Given the description of an element on the screen output the (x, y) to click on. 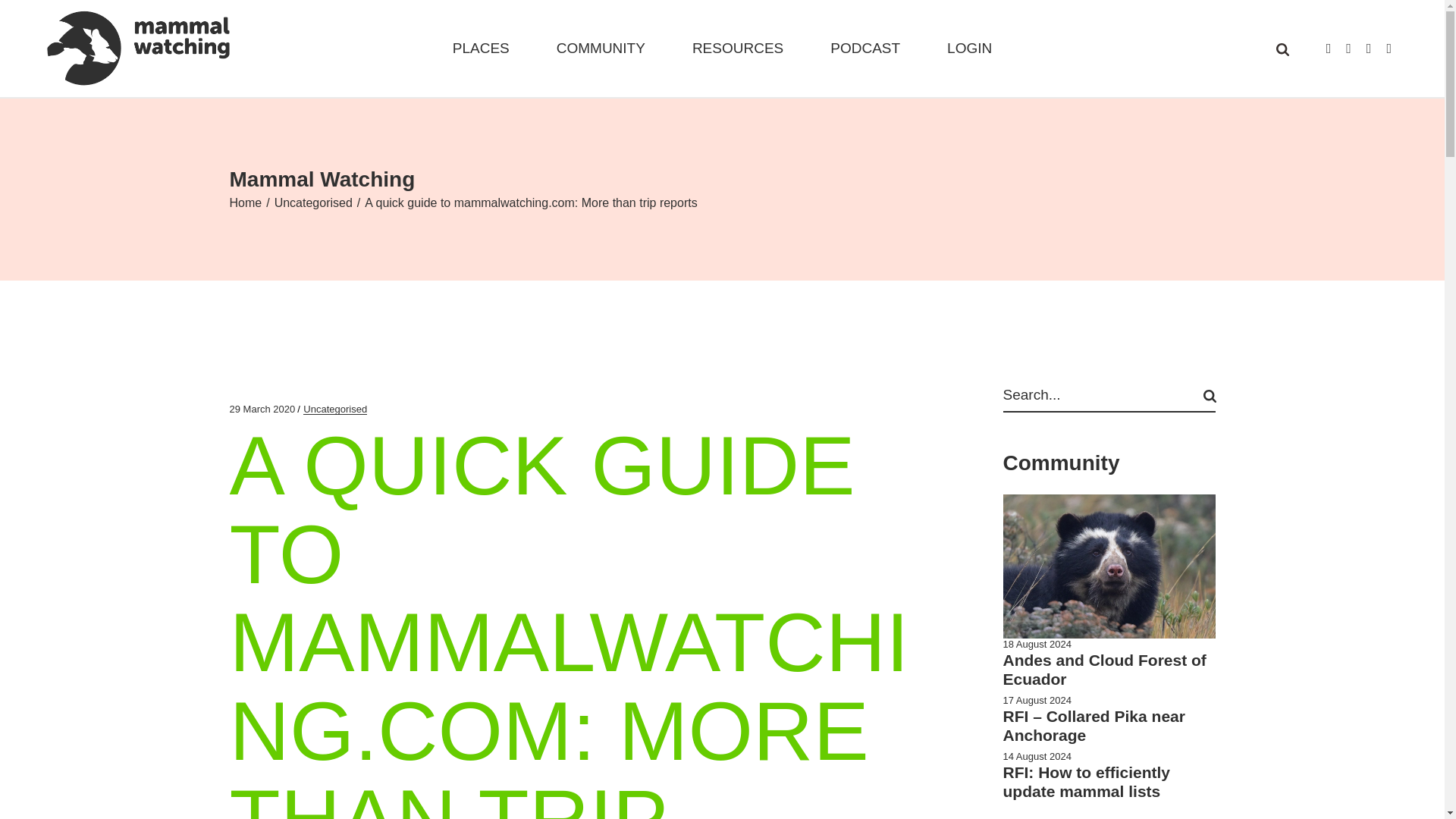
Title Text:  (261, 409)
RESOURCES (738, 48)
COMMUNITY (600, 48)
